Given the description of an element on the screen output the (x, y) to click on. 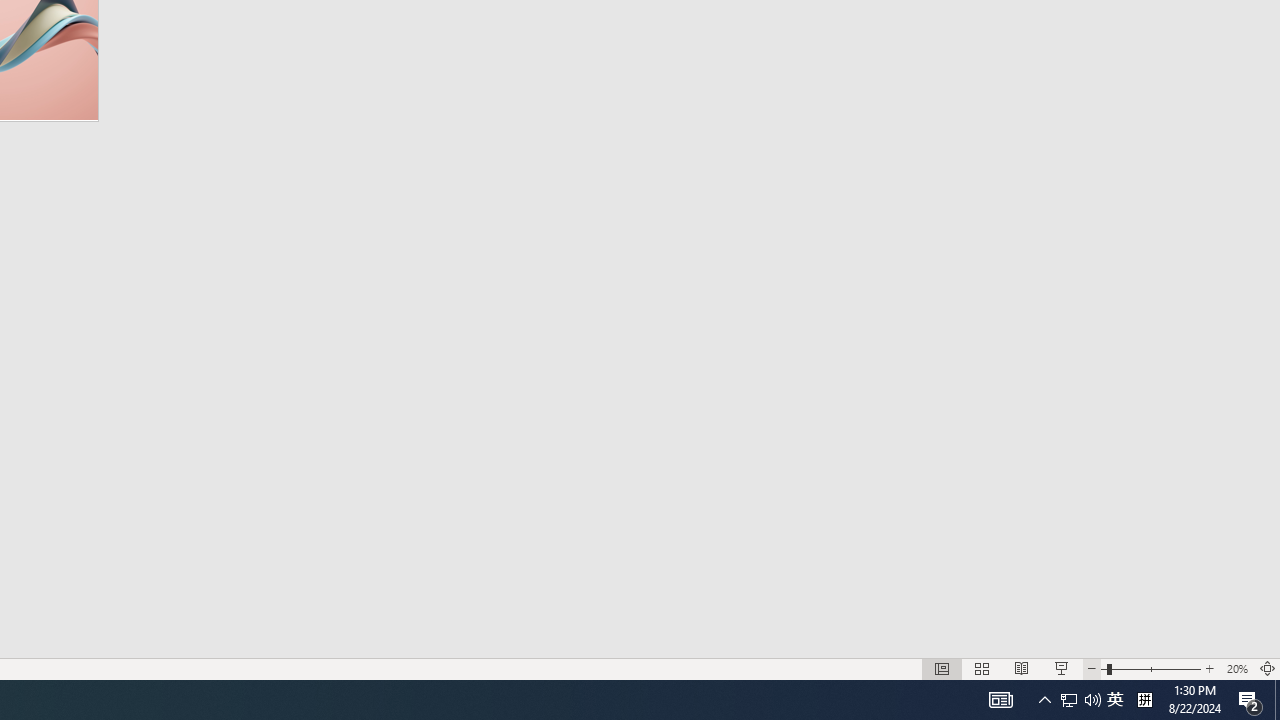
Zoom 20% (1236, 668)
